Given the description of an element on the screen output the (x, y) to click on. 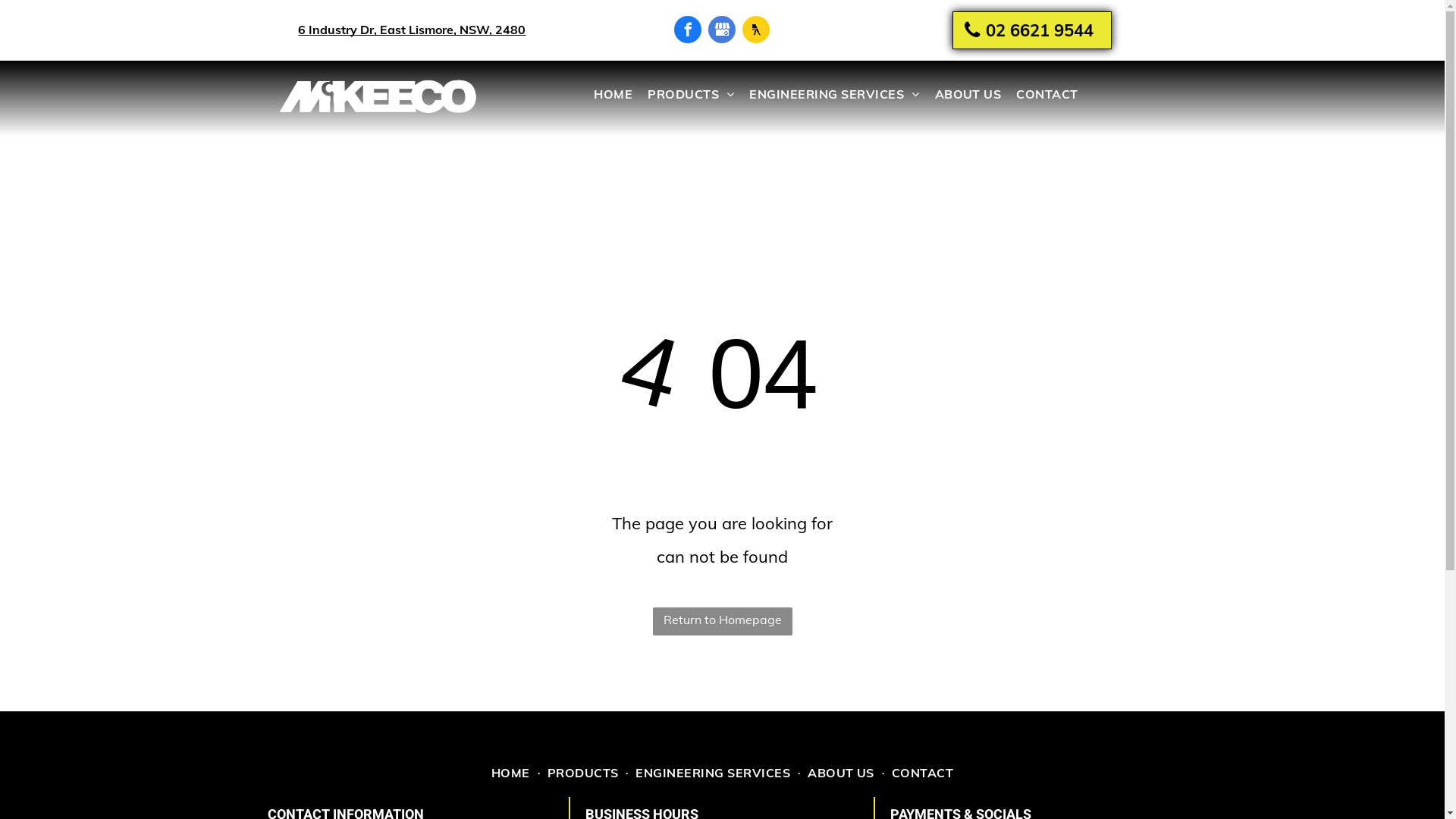
ABOUT US Element type: text (968, 93)
ABOUT US Element type: text (840, 772)
02 6621 9544 Element type: text (1031, 30)
CONTACT Element type: text (1046, 93)
HOME Element type: text (510, 772)
HOME Element type: text (613, 93)
6 Industry Dr, East Lismore, NSW, 2480 Element type: text (411, 29)
ENGINEERING SERVICES Element type: text (833, 93)
McKeeko General Engineering Element type: hover (378, 98)
CONTACT Element type: text (922, 772)
ENGINEERING SERVICES Element type: text (712, 772)
PRODUCTS Element type: text (582, 772)
PRODUCTS Element type: text (690, 93)
Return to Homepage Element type: text (721, 621)
